Given the description of an element on the screen output the (x, y) to click on. 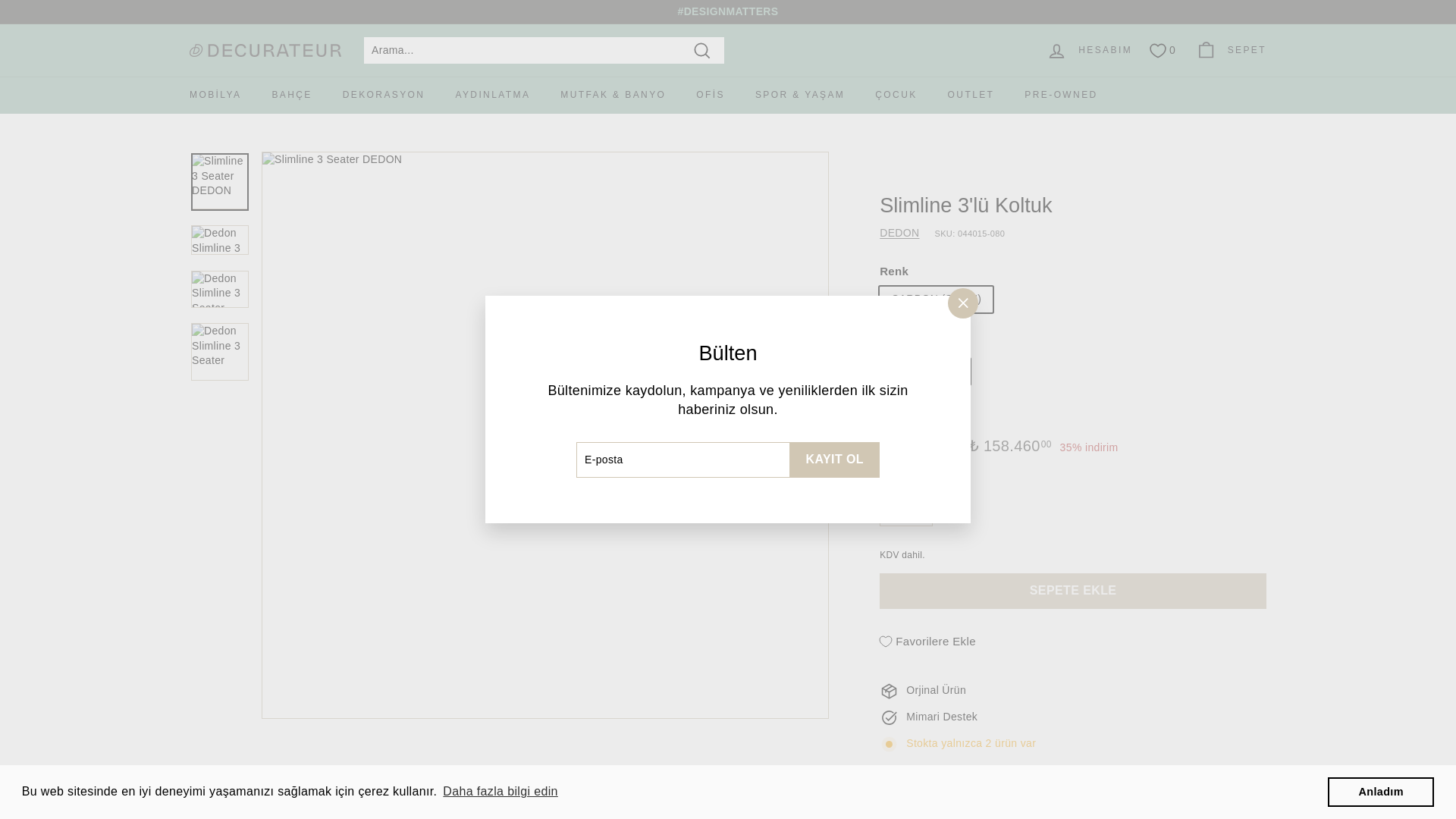
DEKORASYON (384, 94)
1 (906, 514)
MOBILYA (215, 94)
0 (1163, 49)
Daha fazla bilgi edin (500, 791)
HESABIM (1088, 49)
Pinterest'te Pinle (1054, 783)
Favorilere Ekle (927, 641)
